Given the description of an element on the screen output the (x, y) to click on. 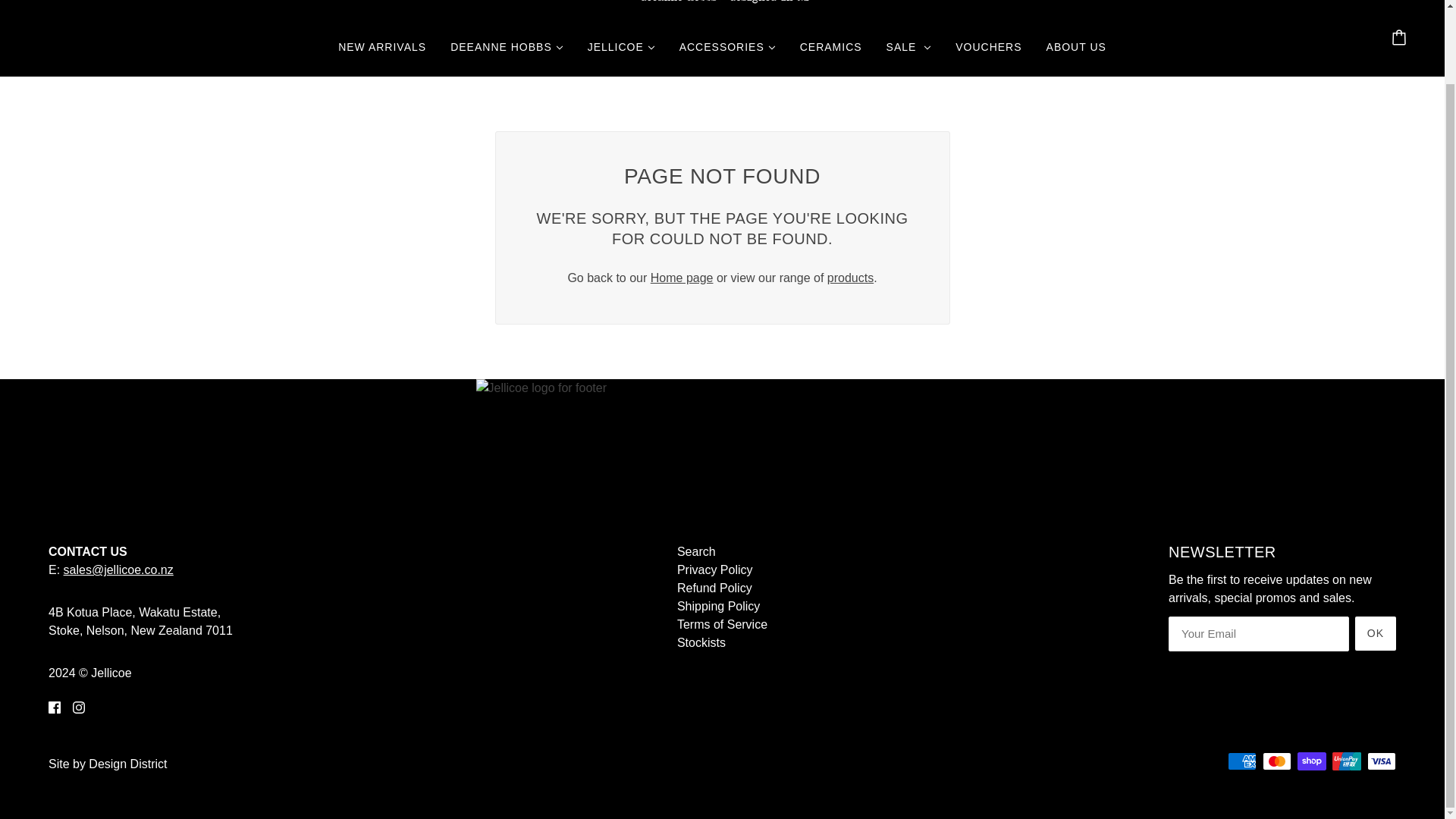
JELLICOE  (620, 52)
Terms of Service (722, 624)
Refund Policy (714, 587)
ACCESSORIES  (726, 52)
SALE   (909, 52)
DEEANNE HOBBS  (506, 52)
Jellicoe (722, 11)
Privacy Policy (714, 569)
CERAMICS (831, 52)
Stockists (701, 642)
